Given the description of an element on the screen output the (x, y) to click on. 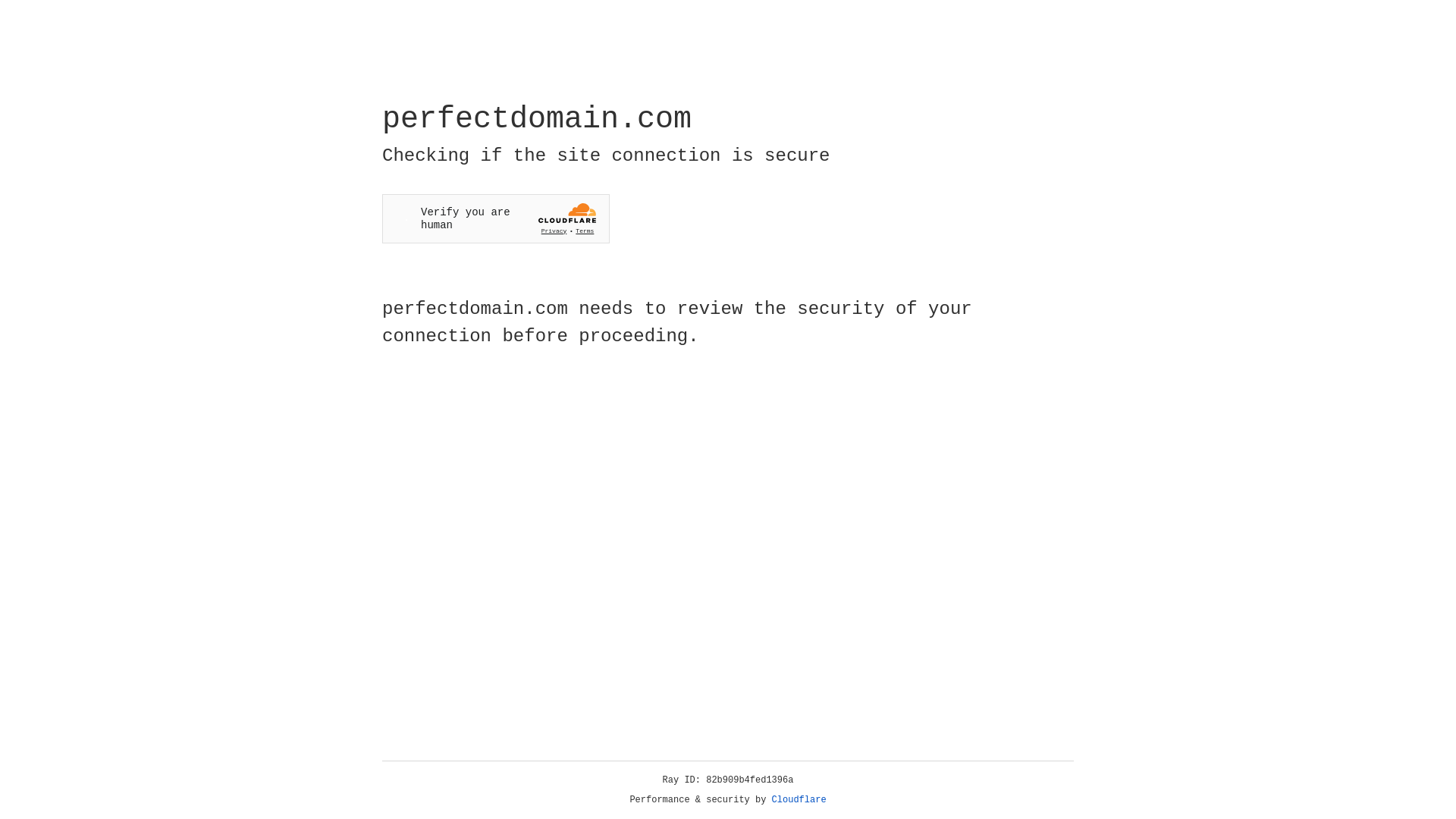
Widget containing a Cloudflare security challenge Element type: hover (495, 218)
Cloudflare Element type: text (798, 799)
